Given the description of an element on the screen output the (x, y) to click on. 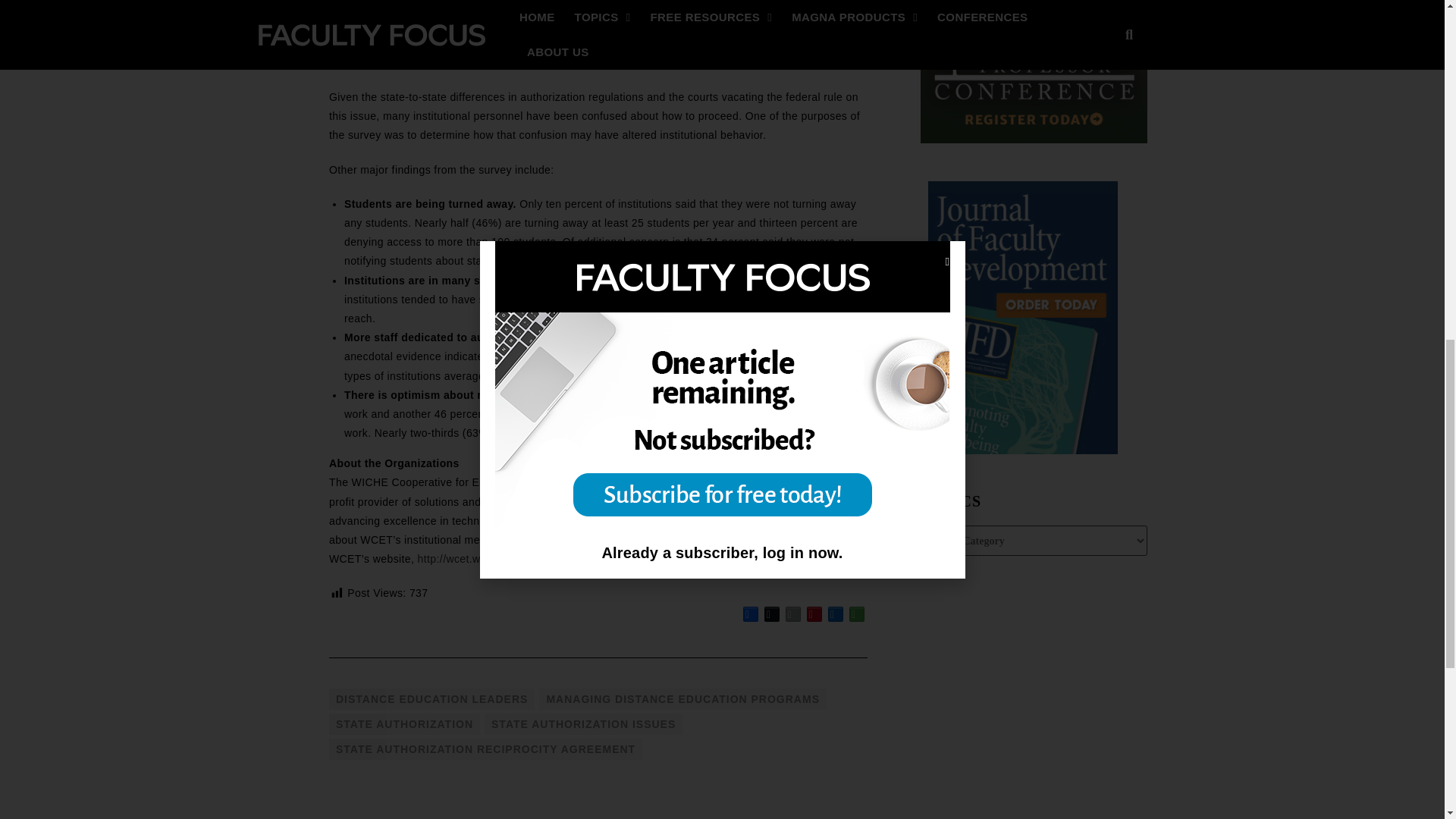
LinkedIn (835, 613)
Pinterest (814, 613)
Email This (793, 613)
Facebook (750, 613)
More Options (856, 613)
